Given the description of an element on the screen output the (x, y) to click on. 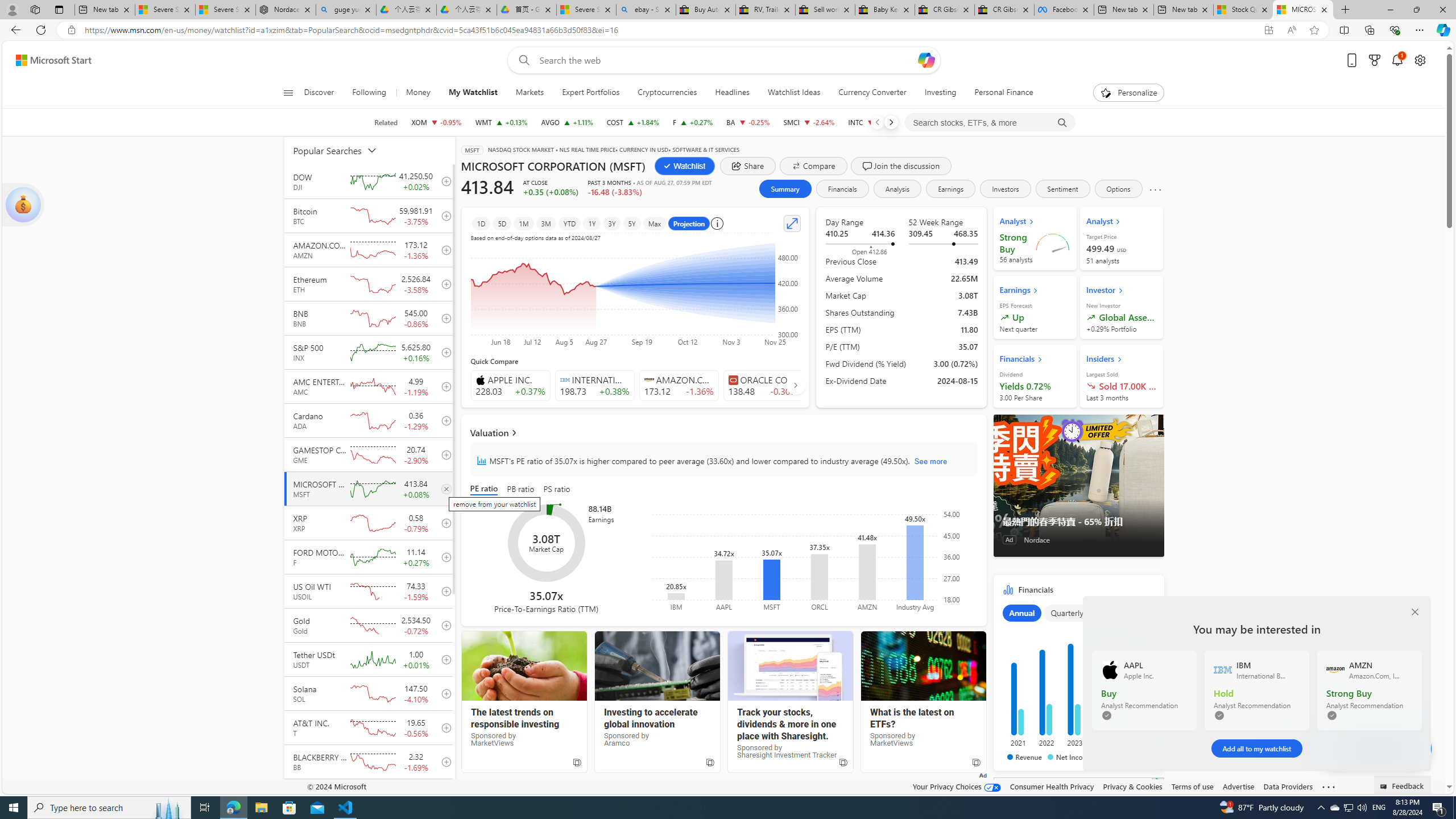
Investing (940, 92)
Personalize (1128, 92)
App available. Install Start Money (1268, 29)
1Y (591, 223)
1M (523, 223)
Web search (520, 60)
guge yunpan - Search (346, 9)
PS ratio (556, 489)
